Given the description of an element on the screen output the (x, y) to click on. 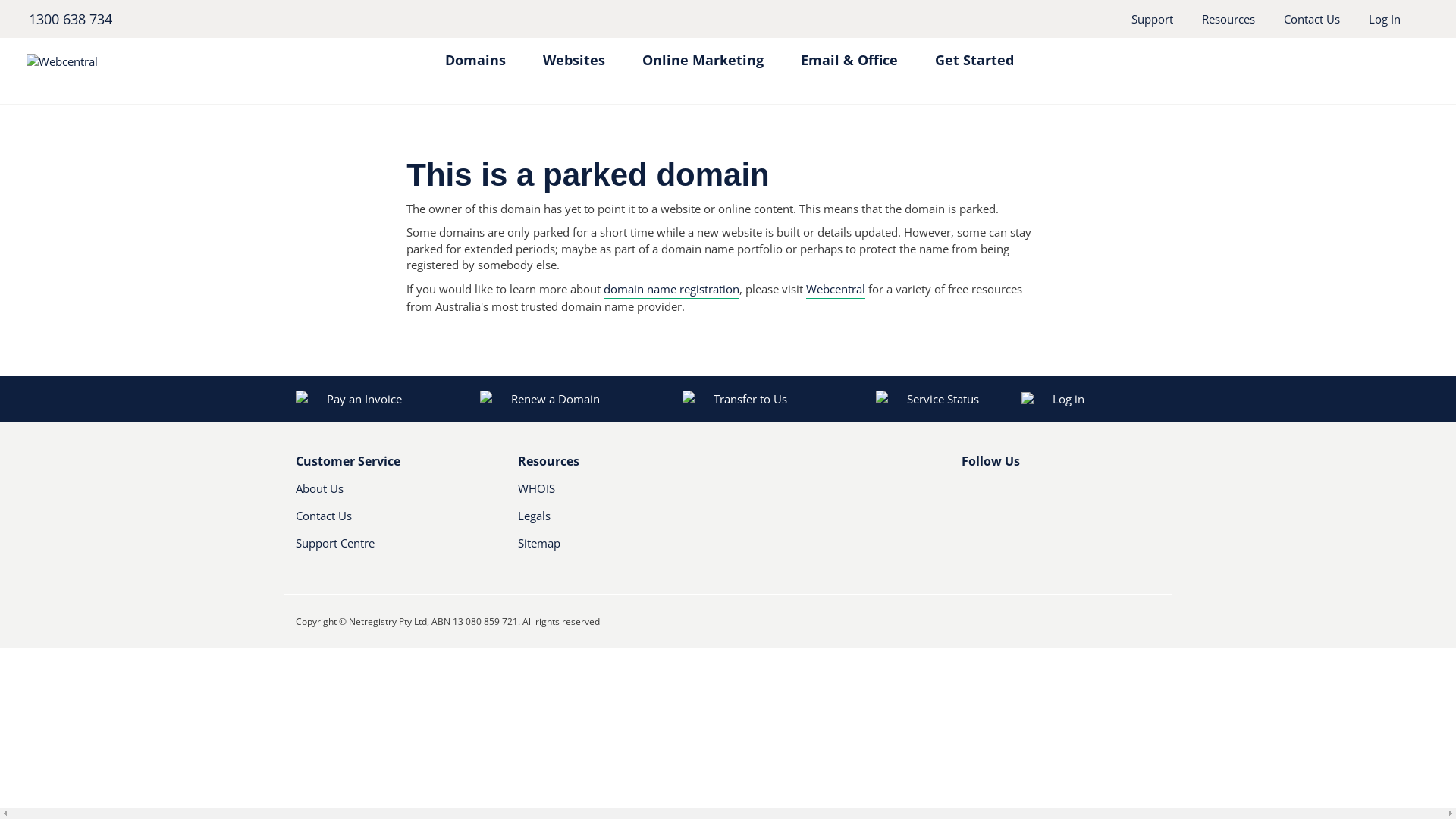
Email & Office Element type: text (848, 52)
Resources Element type: text (1228, 18)
1300 638 734 Element type: text (69, 18)
Contact Us Element type: text (379, 521)
Twitter Element type: hover (993, 494)
Webcentral Element type: text (835, 289)
Renew a Domain Element type: text (540, 398)
Legals Element type: text (601, 521)
Online Marketing Element type: text (701, 52)
RSS Element type: hover (1045, 494)
Get Started Element type: text (973, 52)
Support Element type: text (1152, 18)
Facebook Element type: hover (970, 494)
Service Status Element type: text (927, 398)
Domains Element type: text (474, 52)
About Us Element type: text (379, 494)
WHOIS Element type: text (601, 494)
Contact Us Element type: text (1311, 18)
Support Centre Element type: text (395, 548)
Youtube Element type: hover (1019, 494)
Log in Element type: text (1111, 398)
Log In Element type: text (1384, 18)
Transfer to Us Element type: text (734, 398)
Websites Element type: text (573, 52)
Sitemap Element type: text (616, 548)
domain name registration Element type: text (671, 289)
Webcentral Element type: hover (163, 60)
Pay an Invoice Element type: text (348, 398)
